Given the description of an element on the screen output the (x, y) to click on. 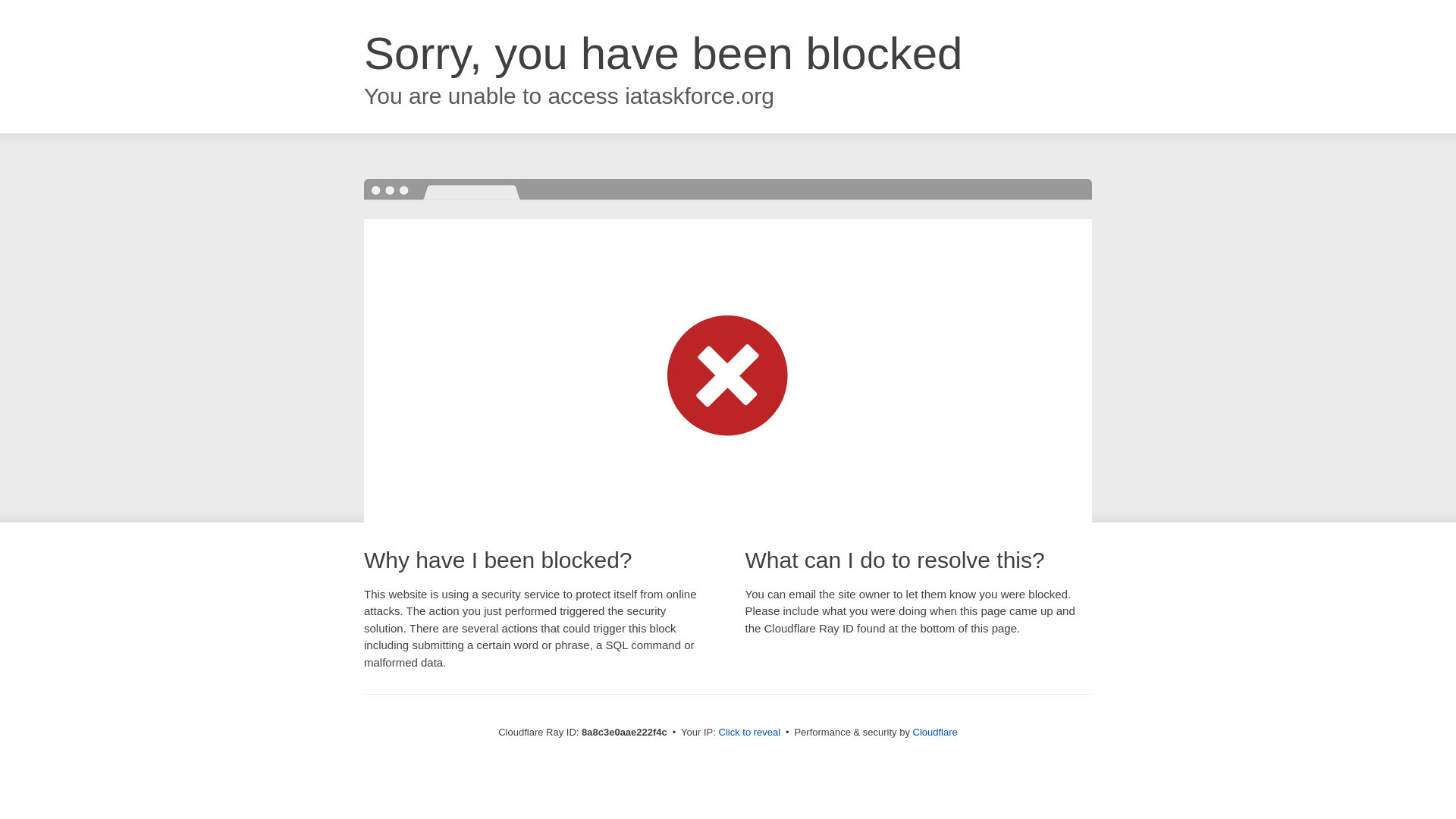
Cloudflare (935, 731)
Click to reveal (749, 732)
